Given the description of an element on the screen output the (x, y) to click on. 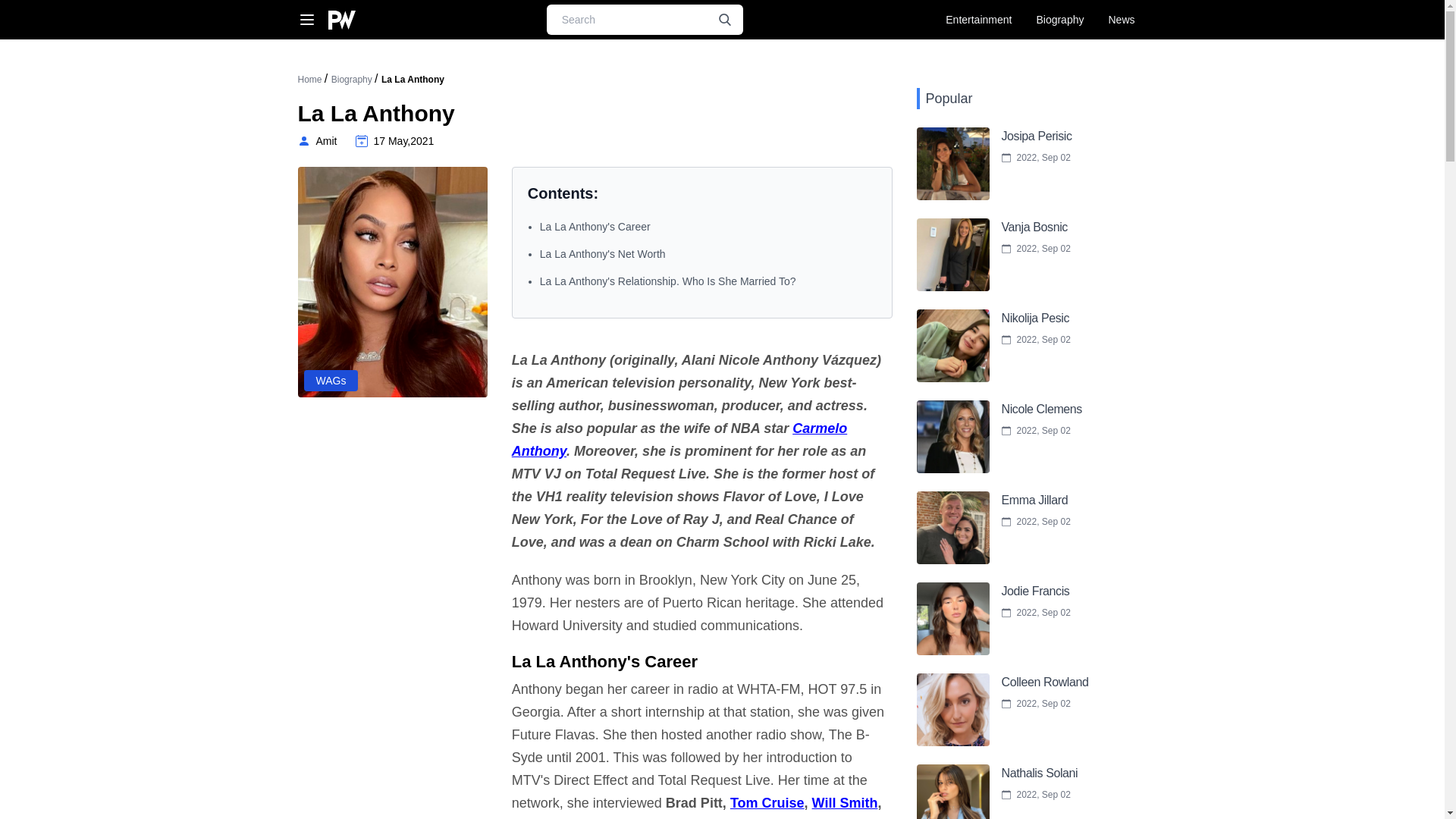
Tom Cruise (1001, 436)
Amit (767, 802)
Nikolija Pesic (316, 140)
Entertainment (1001, 345)
Biography (978, 19)
WAGs (352, 79)
La La Anthony's Career (1001, 163)
home (330, 380)
WAGs (595, 226)
entertainment (310, 79)
News (330, 380)
biography (978, 19)
